Given the description of an element on the screen output the (x, y) to click on. 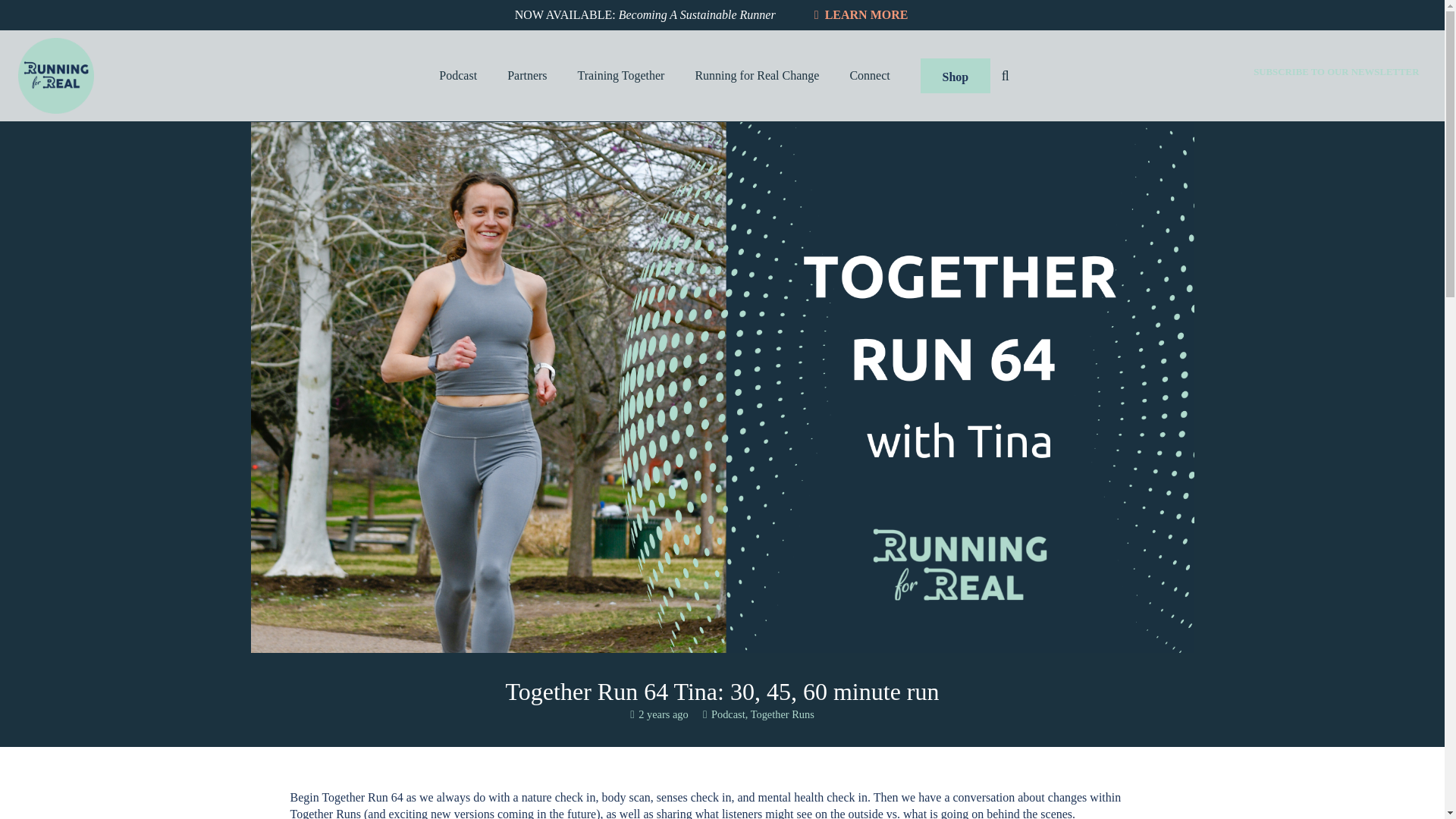
SUBSCRIBE TO OUR NEWSLETTER (1335, 71)
Podcast (457, 75)
26 September 2022 at 00:01:49 -06:00 (659, 713)
Podcast (728, 714)
Connect (869, 75)
Shop (955, 76)
Running for Real Change (756, 75)
Together Runs (782, 714)
Partners (527, 75)
LEARN MORE (861, 16)
Training Together (620, 75)
